Given the description of an element on the screen output the (x, y) to click on. 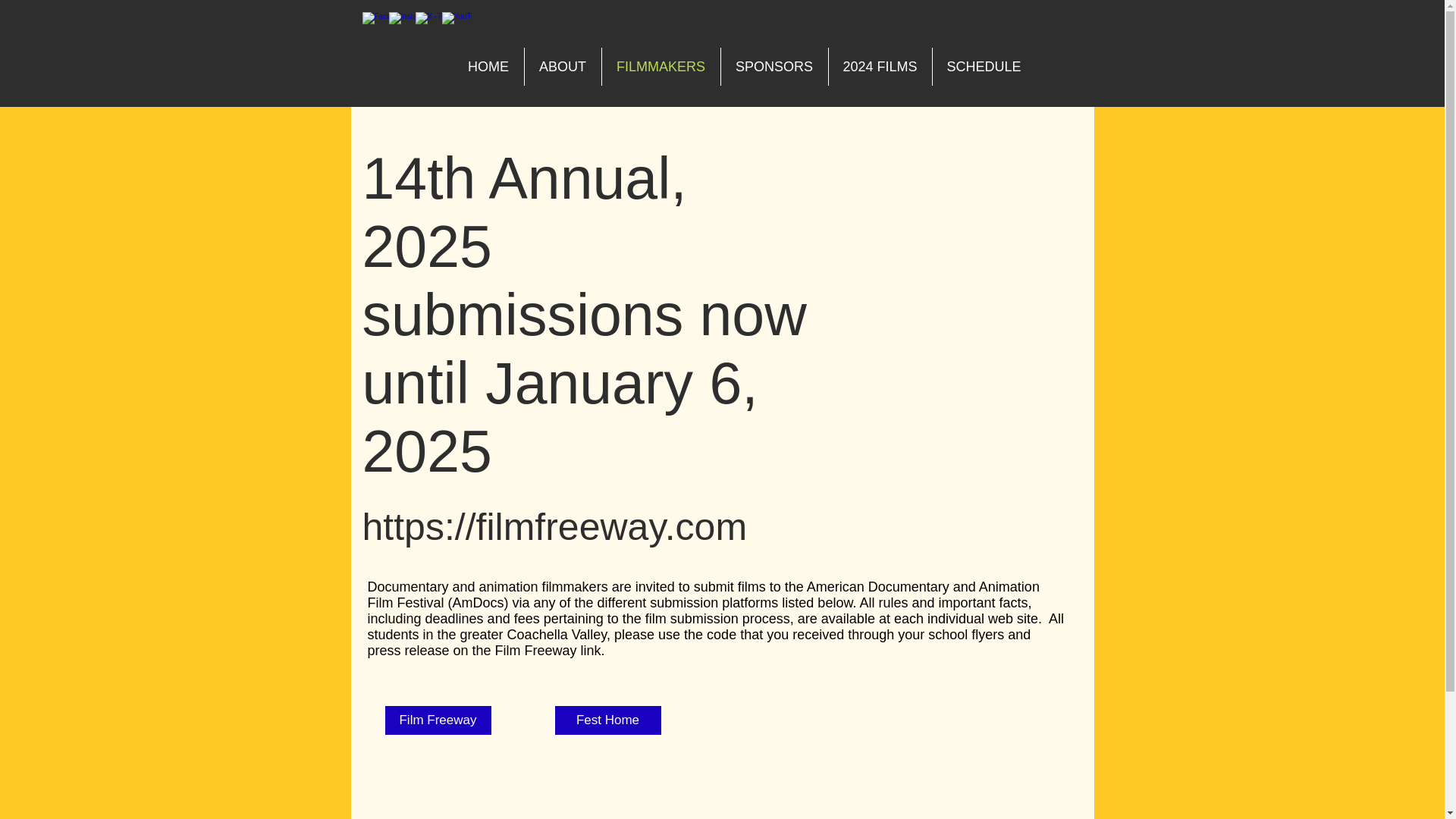
HOME (488, 66)
ABOUT (562, 66)
SPONSORS (773, 66)
FILMMAKERS (661, 66)
